Given the description of an element on the screen output the (x, y) to click on. 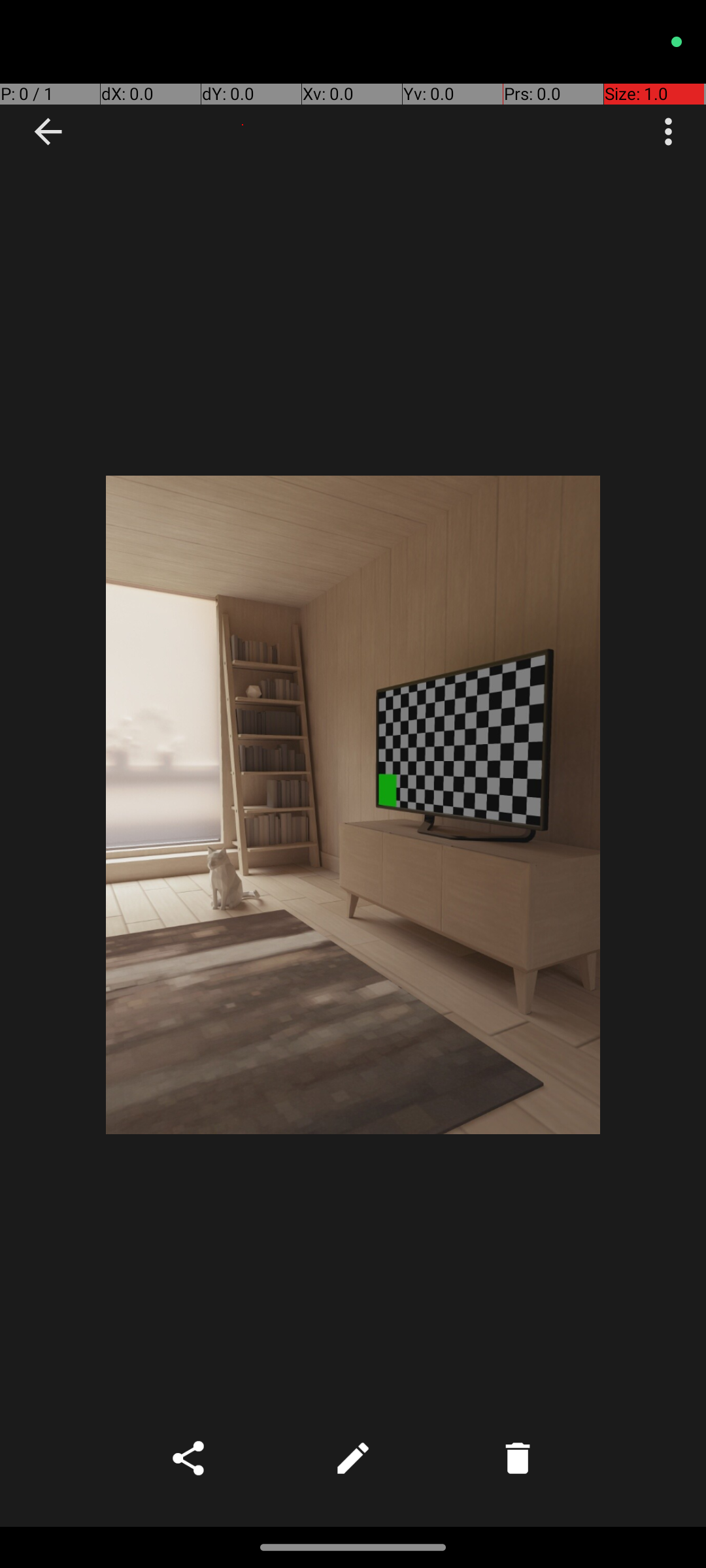
Photo taken on Oct 15, 2023 15:34:07 Element type: android.widget.ImageView (352, 804)
